Given the description of an element on the screen output the (x, y) to click on. 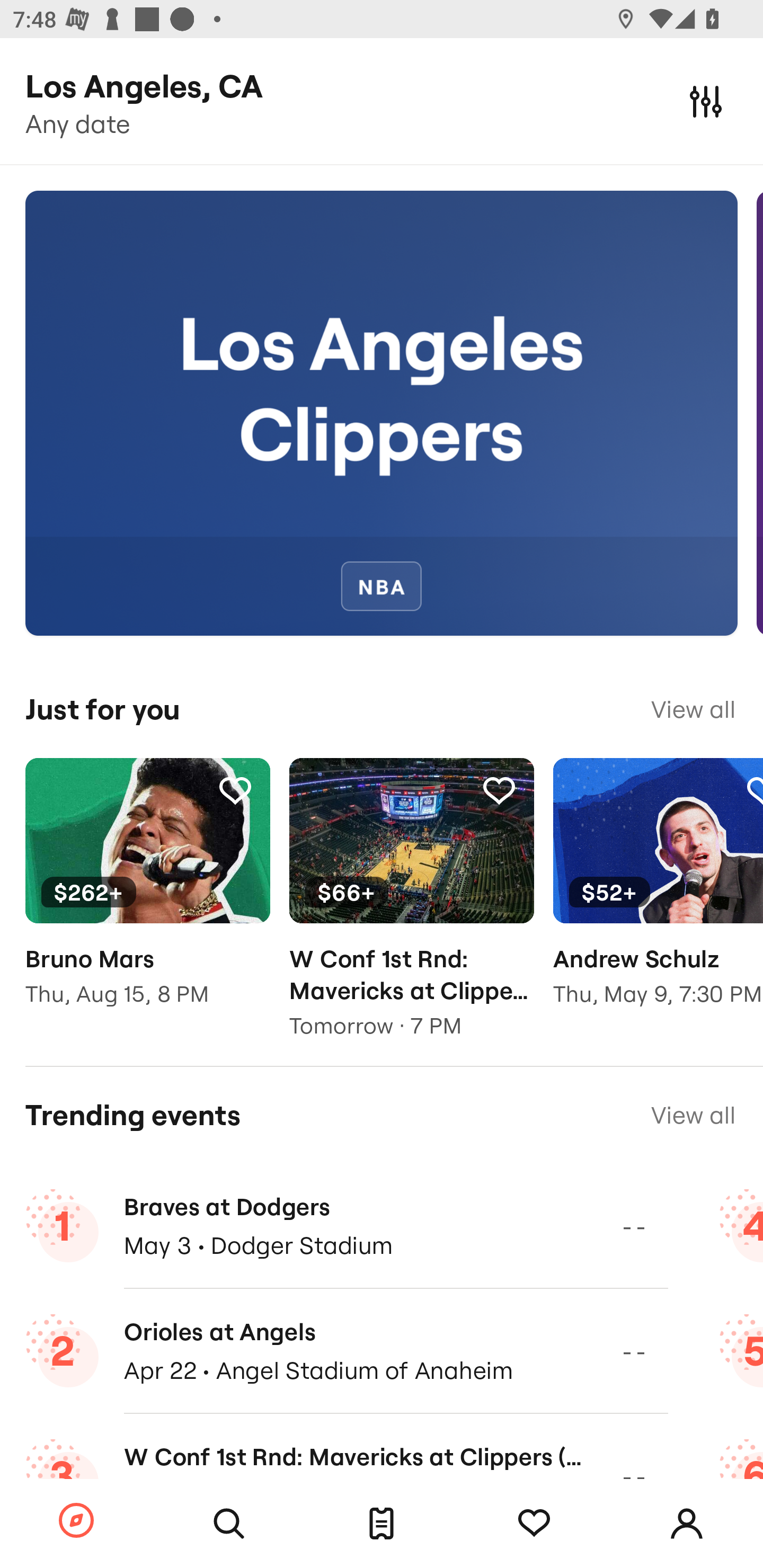
Filters (705, 100)
View all (693, 709)
Tracking $262+ Bruno Mars Thu, Aug 15, 8 PM (147, 895)
Tracking $52+ Andrew Schulz Thu, May 9, 7:30 PM (658, 895)
Tracking (234, 790)
Tracking (498, 790)
View all (693, 1114)
Browse (76, 1521)
Search (228, 1523)
Tickets (381, 1523)
Tracking (533, 1523)
Account (686, 1523)
